Given the description of an element on the screen output the (x, y) to click on. 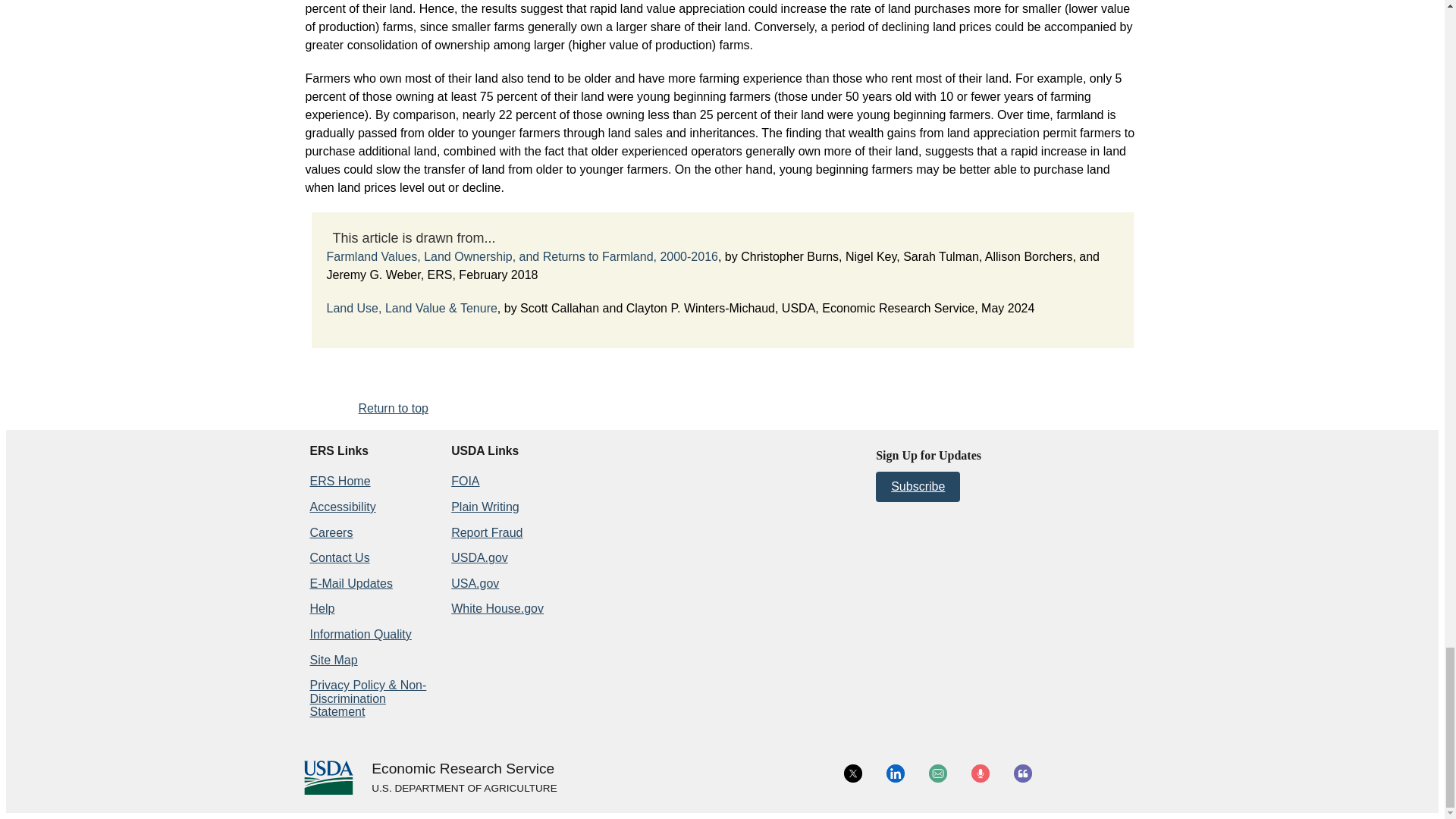
ERS Home (338, 481)
Blog Icon (1021, 773)
Home (462, 768)
Multimedia Icon (979, 773)
LinkedIn icon (894, 773)
USDA.gov (463, 788)
Accessibility (341, 506)
Return to top (393, 408)
Email Icon (937, 773)
